Given the description of an element on the screen output the (x, y) to click on. 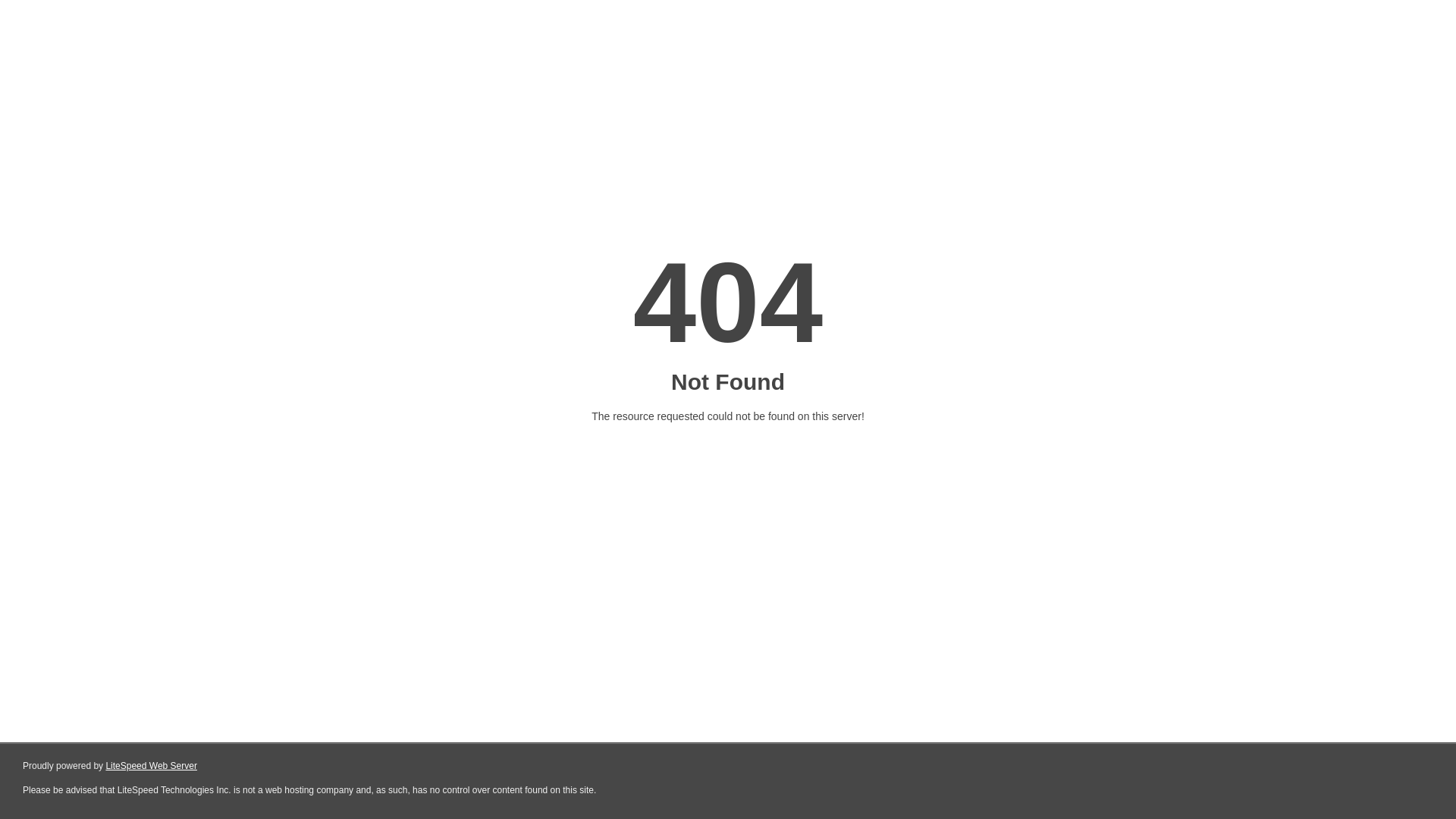
LiteSpeed Web Server Element type: text (151, 765)
